Given the description of an element on the screen output the (x, y) to click on. 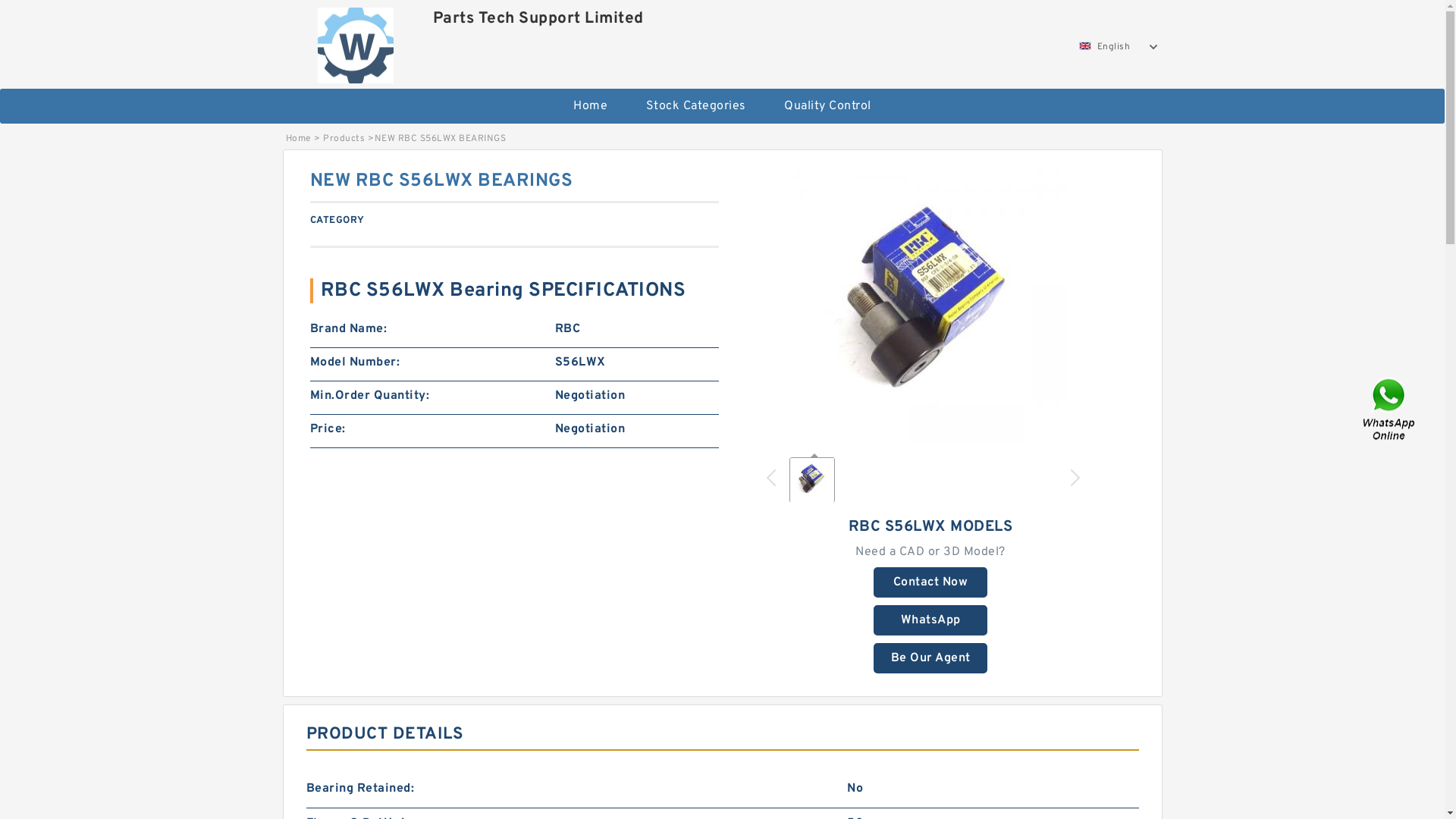
Home Element type: text (297, 138)
Parts Tech Support Limited Element type: hover (355, 41)
Quality Control Element type: text (827, 105)
WhatsApp Element type: text (930, 620)
Be Our Agent Element type: text (930, 658)
Contact Us Element type: hover (1389, 409)
Stock Categories Element type: text (695, 105)
NEW RBC S56LWX BEARINGS image Element type: hover (929, 305)
Products Element type: text (343, 138)
Home Element type: text (589, 105)
Contact Now Element type: text (930, 582)
